Given the description of an element on the screen output the (x, y) to click on. 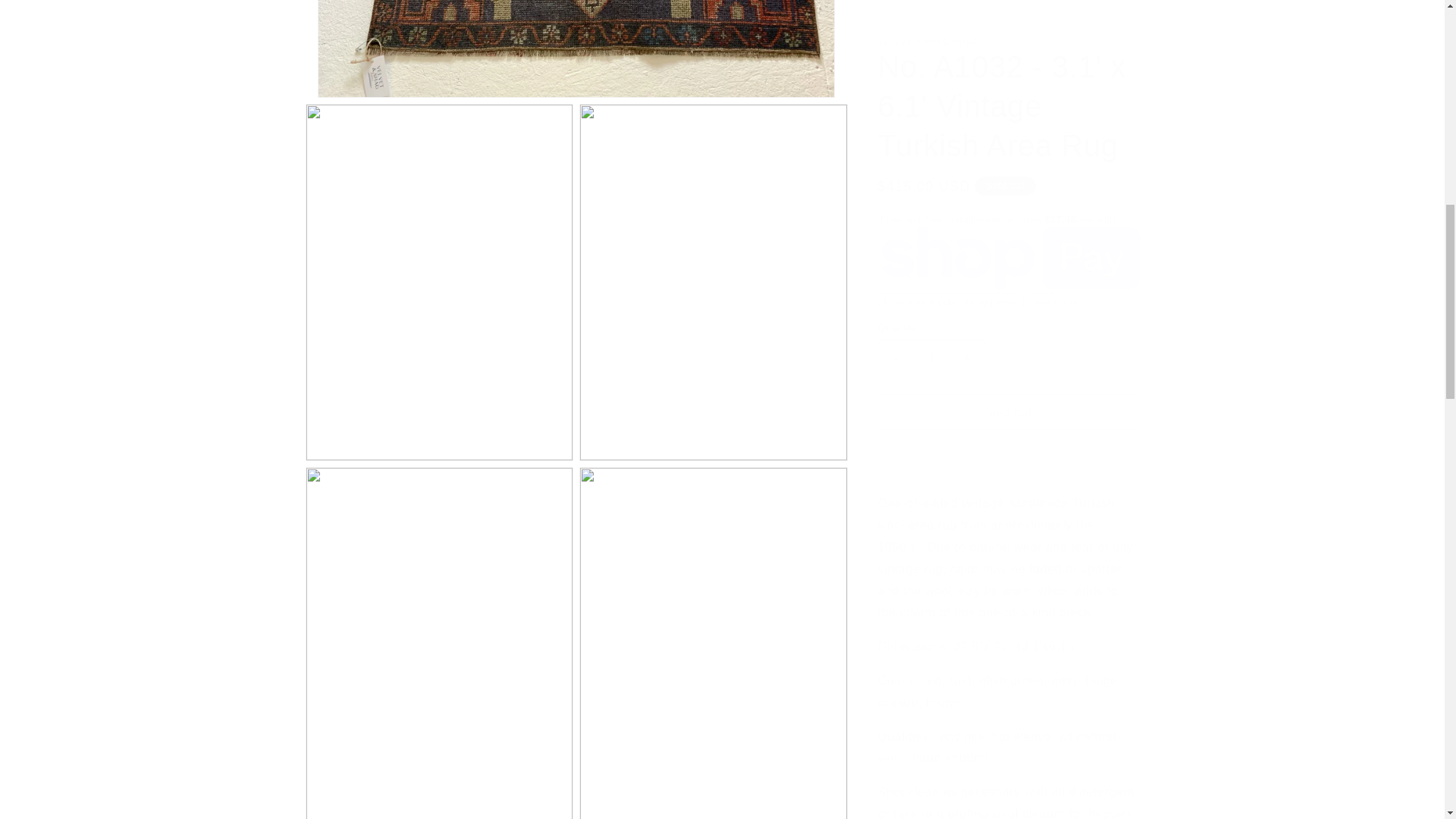
Open media 1 in modal (575, 41)
Open media 7 in modal (713, 816)
Open media 6 in modal (438, 816)
